Given the description of an element on the screen output the (x, y) to click on. 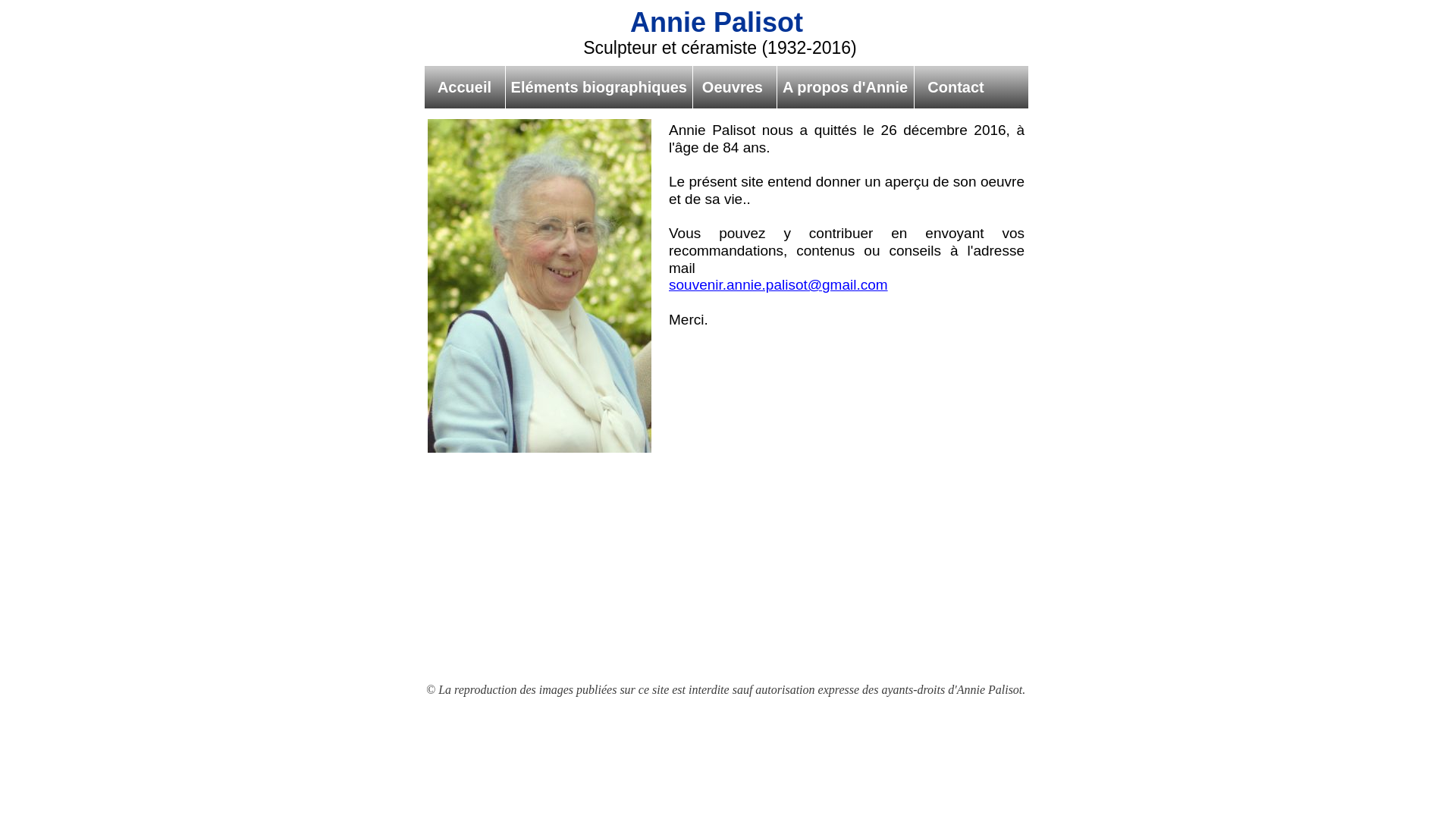
A propos d'Annie Element type: text (844, 86)
A propos d'Annie Element type: text (845, 86)
   Accueil    Element type: text (464, 86)
  Element type: text (410, 794)
  Oeuvres    Element type: text (735, 86)
   Accueil    Element type: text (464, 86)
   Contact Element type: text (949, 86)
  Element type: text (410, 6)
  Oeuvres    Element type: text (734, 86)
   Contact Element type: text (949, 86)
souvenir.annie.palisot@gmail.com Element type: text (778, 285)
